Given the description of an element on the screen output the (x, y) to click on. 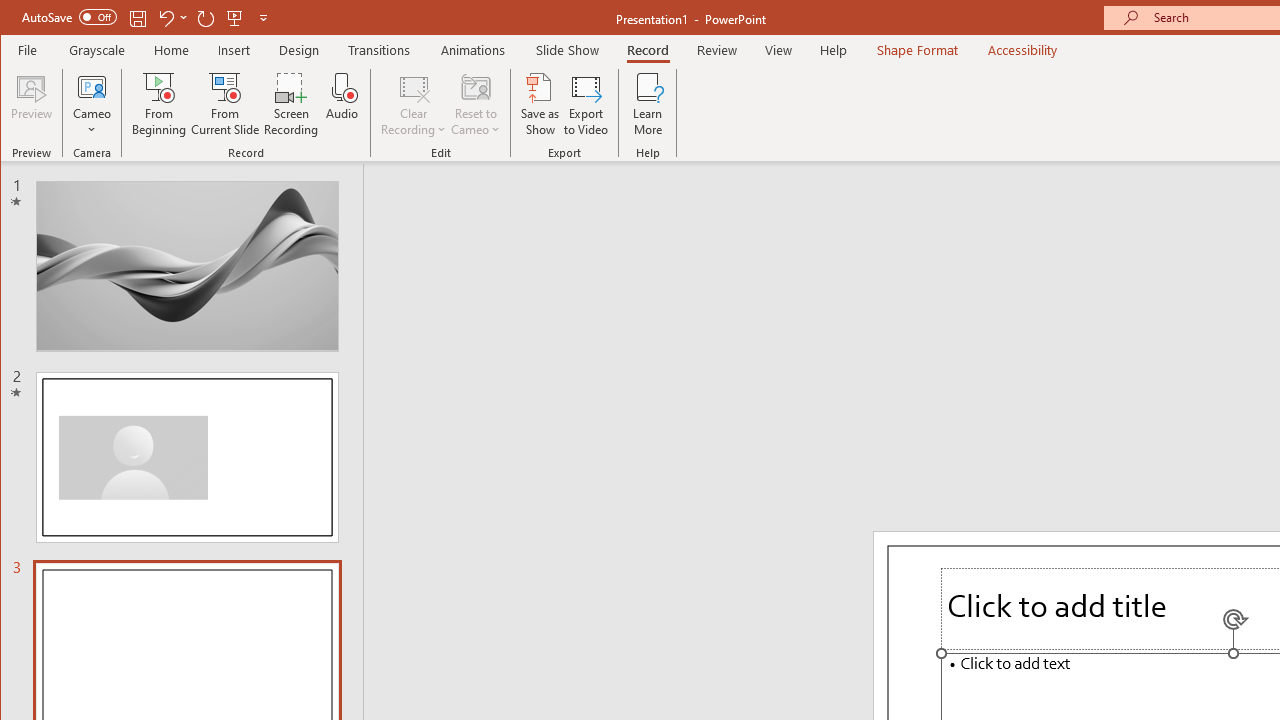
From Current Slide... (225, 104)
